Given the description of an element on the screen output the (x, y) to click on. 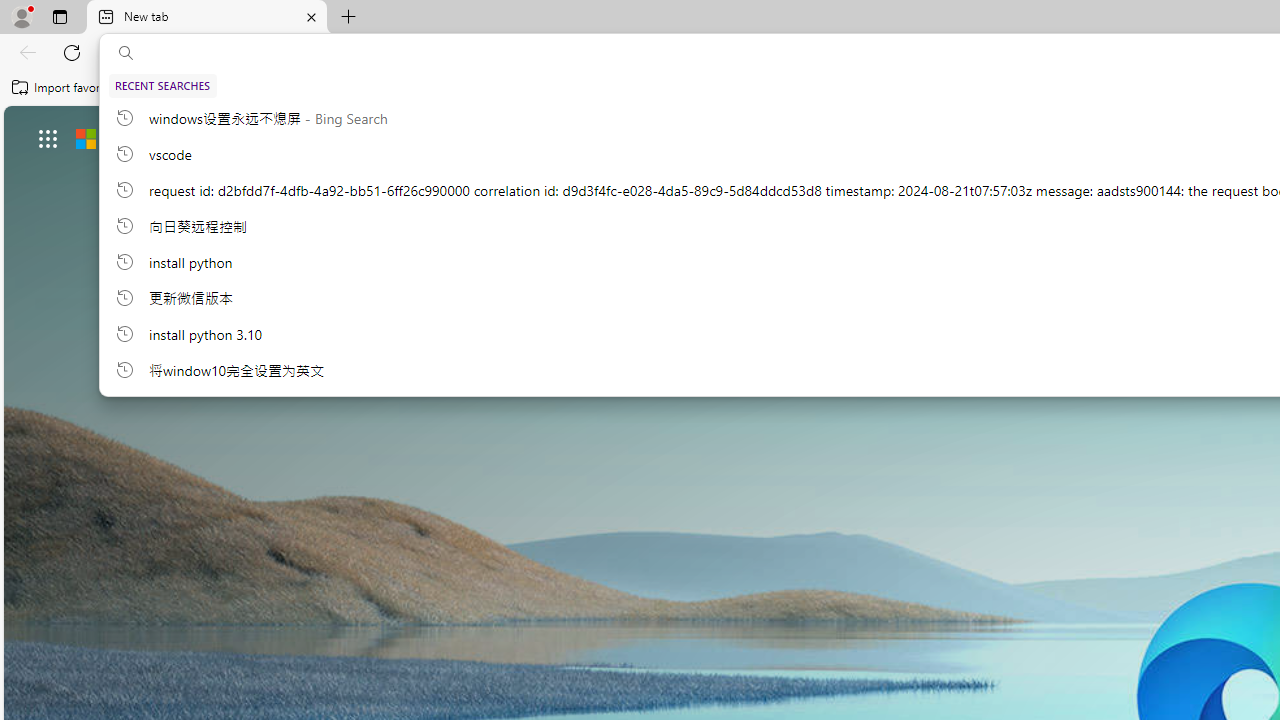
Search icon (125, 53)
Import favorites (65, 88)
Manage favorites now (556, 88)
